Given the description of an element on the screen output the (x, y) to click on. 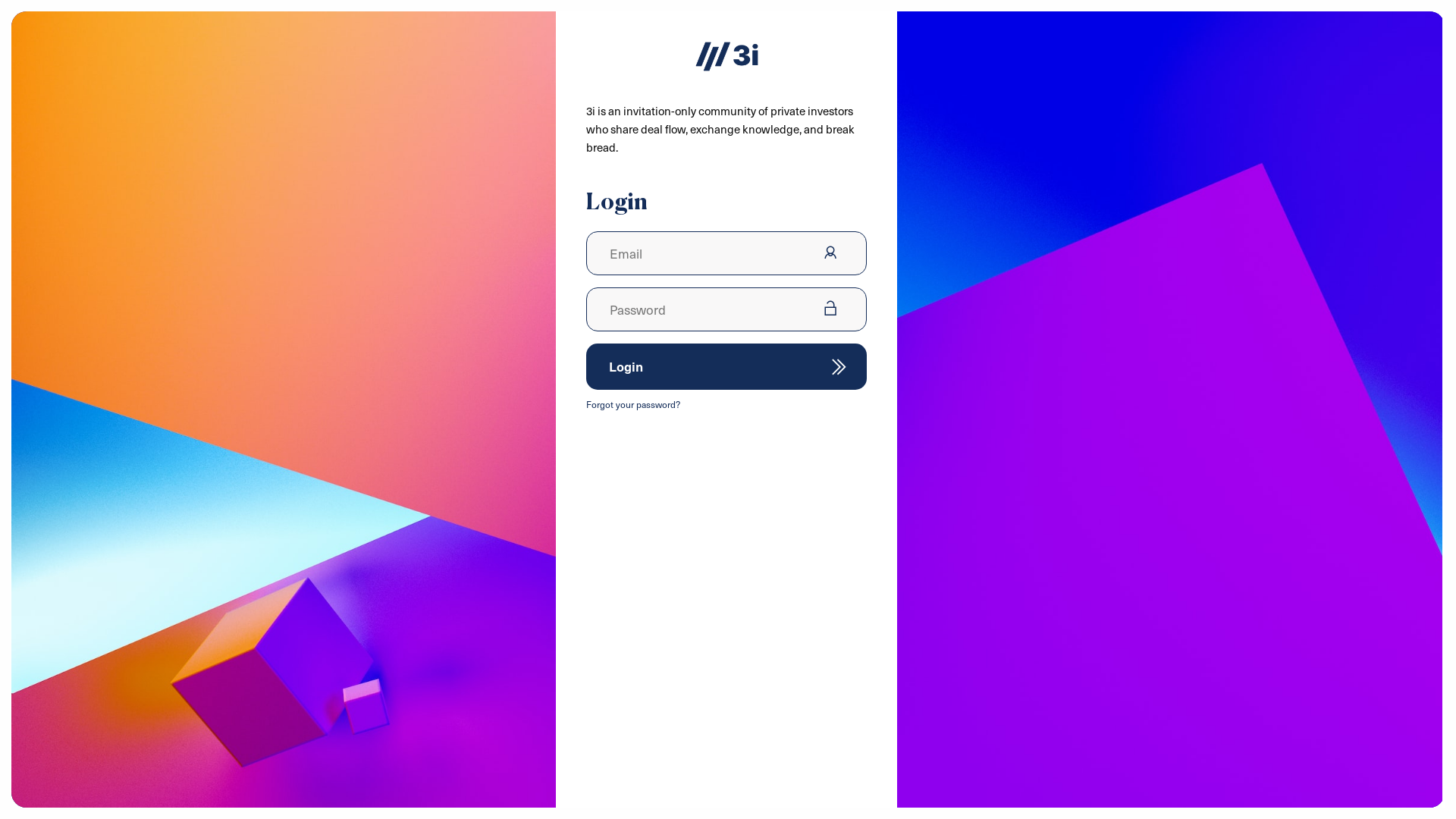
Forgot your password? Element type: text (633, 404)
Login Element type: text (726, 366)
